Given the description of an element on the screen output the (x, y) to click on. 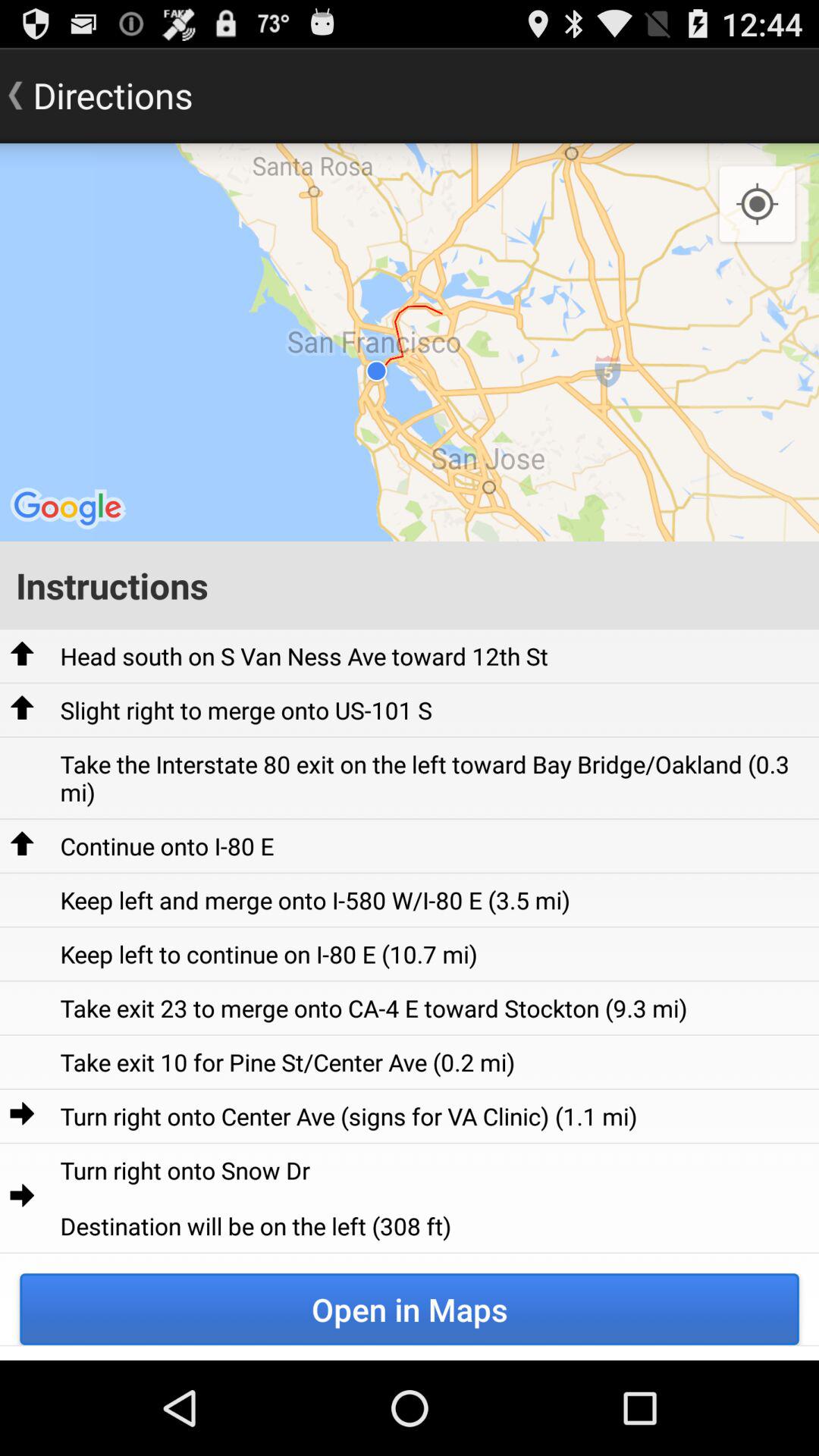
click the icon at the top right corner (757, 204)
